Given the description of an element on the screen output the (x, y) to click on. 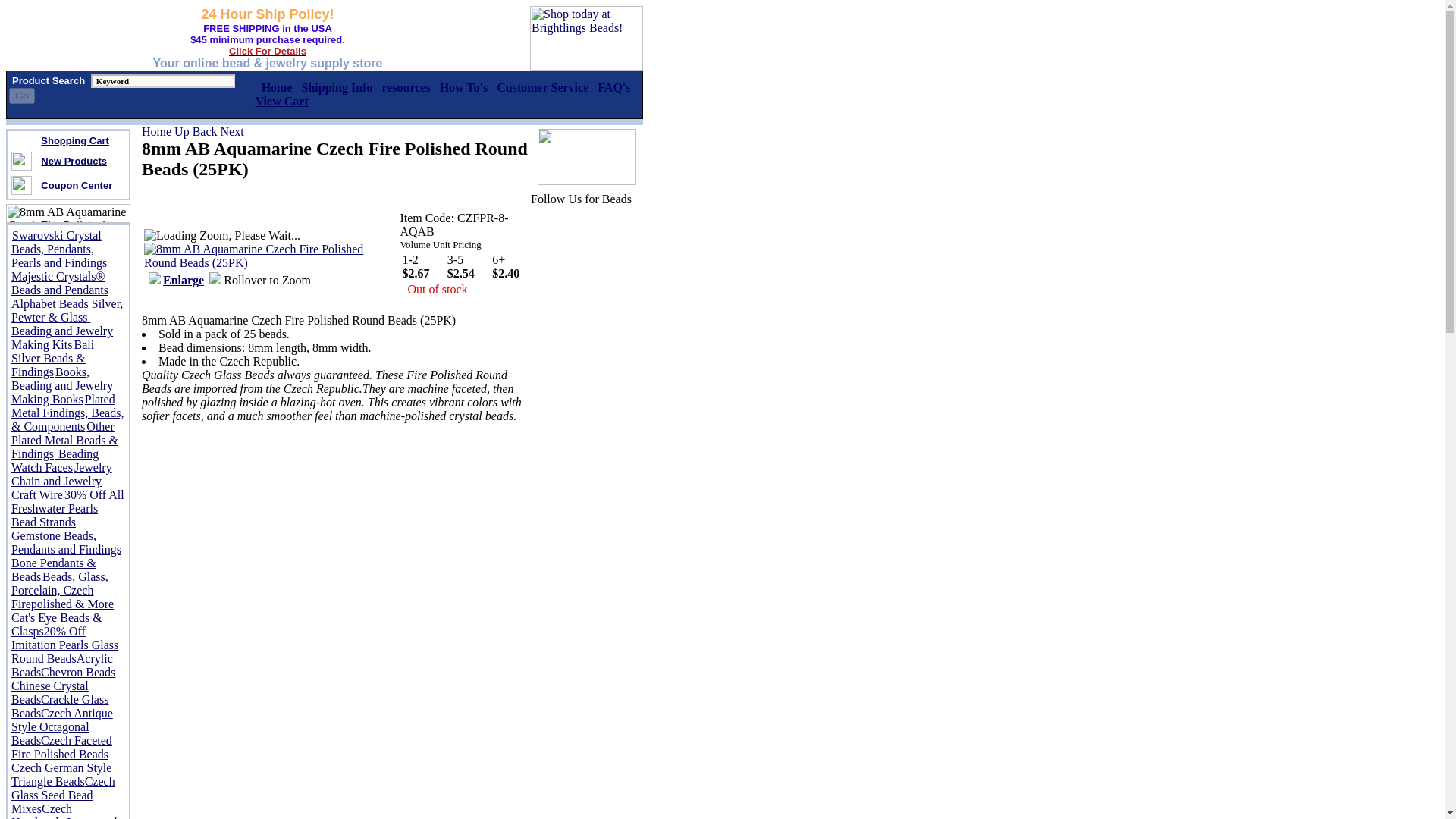
New Products (73, 160)
Coupon Center (76, 184)
Books, Beading and Jewelry Making Books (62, 385)
Jewelry Chain and Jewelry Craft Wire (61, 481)
Gemstone Beads, Pendants and Findings (65, 542)
Go (21, 95)
 Keyword  (162, 80)
Roll Off Image to Close Zoom Window (270, 262)
resources (405, 87)
Chinese Crystal Beads (49, 692)
Shipping Info (336, 87)
Beading and Jewelry Making Kits (62, 337)
Czech Antique Style Octagonal Beads (62, 726)
View Cart (282, 101)
Customer Service (542, 87)
